Given the description of an element on the screen output the (x, y) to click on. 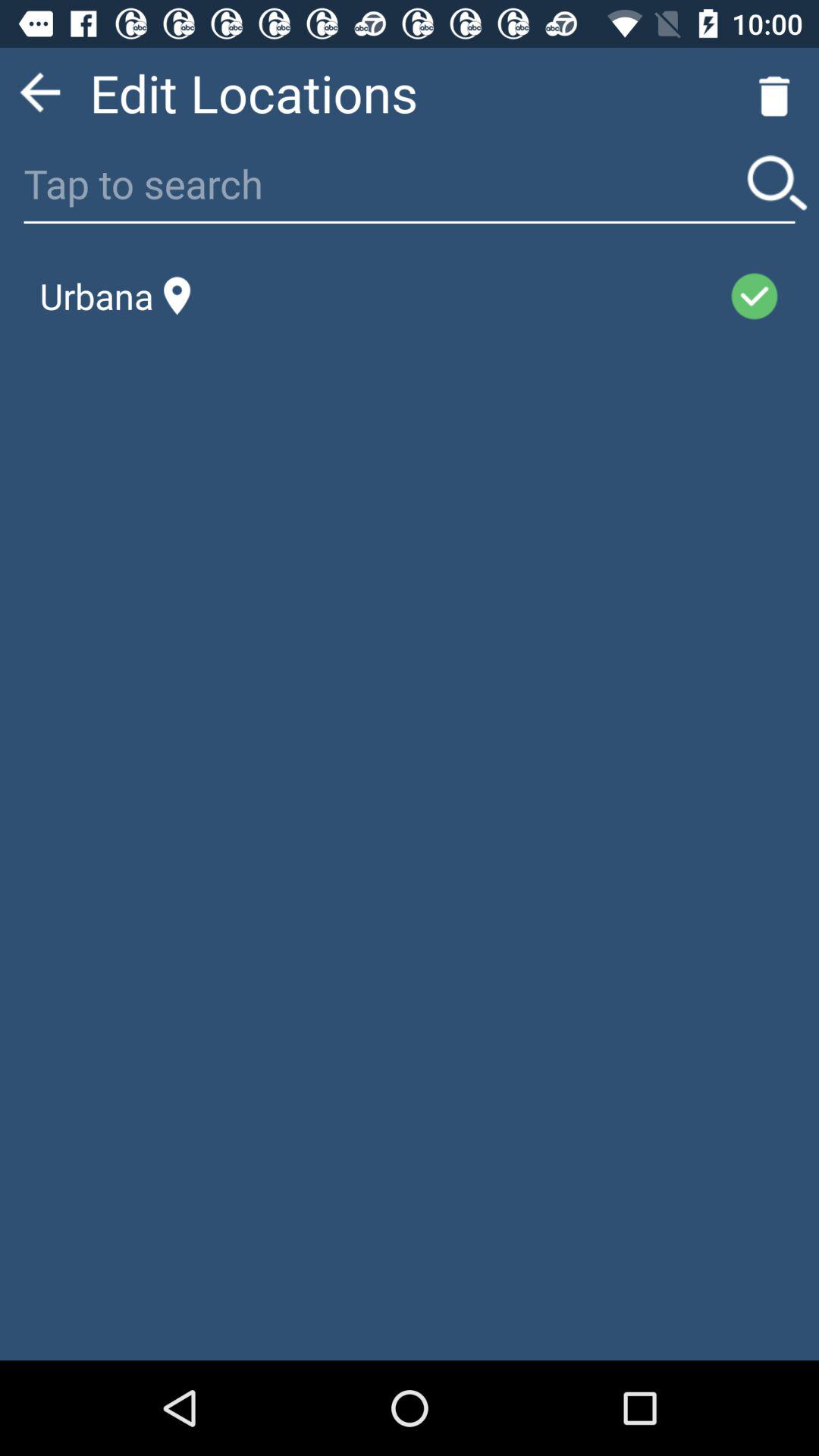
search (777, 183)
